Given the description of an element on the screen output the (x, y) to click on. 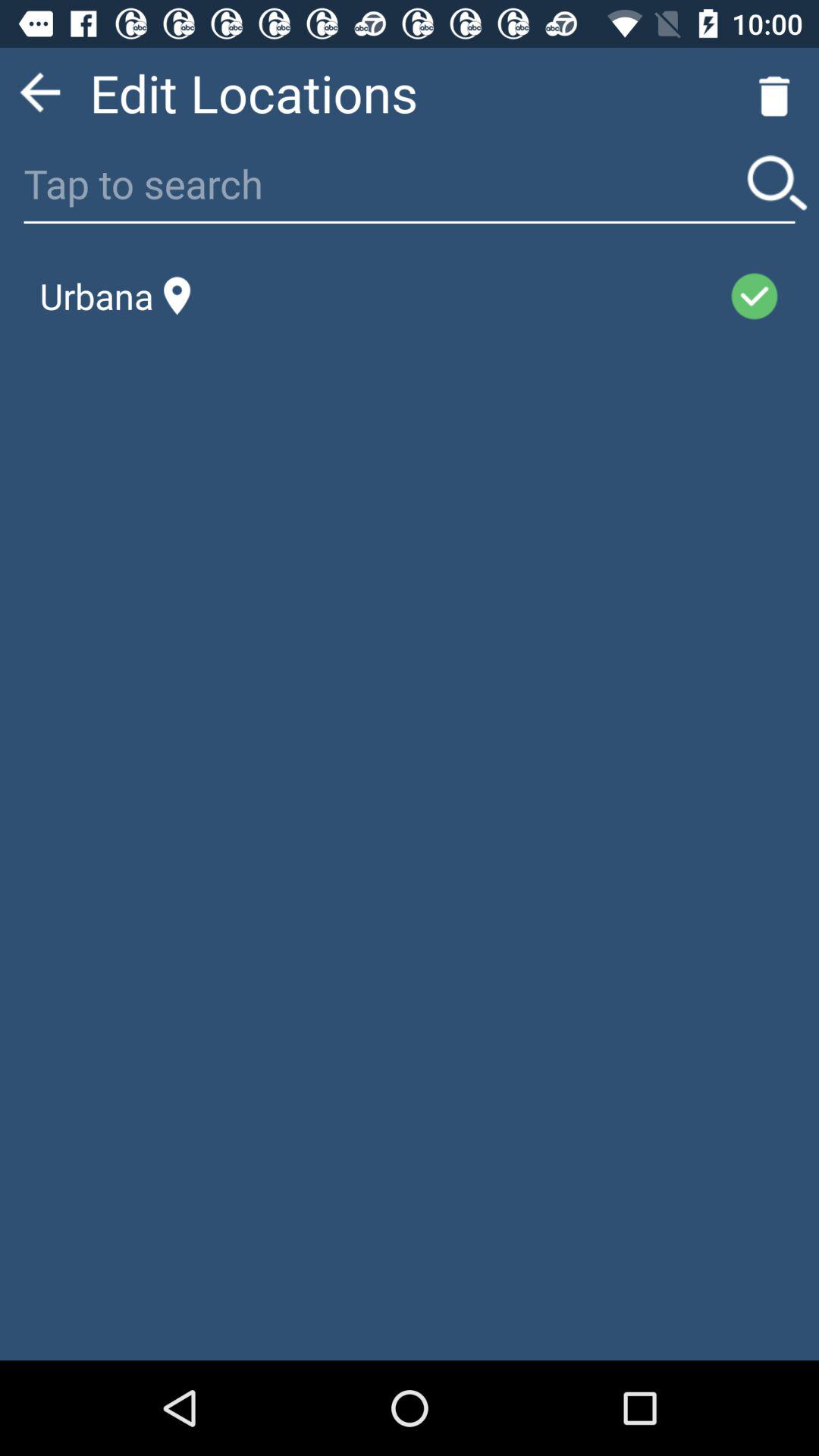
search (777, 183)
